Given the description of an element on the screen output the (x, y) to click on. 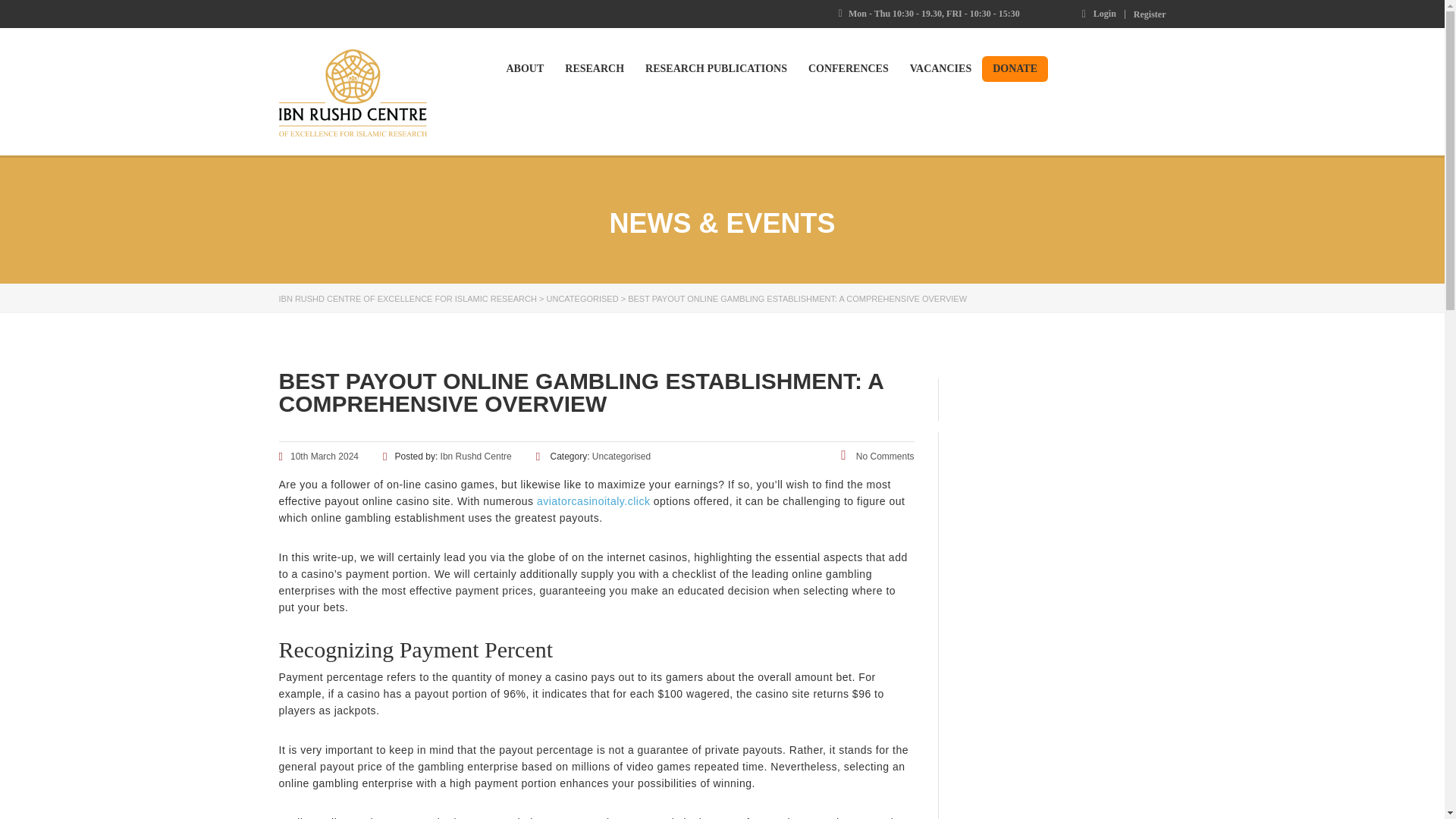
Go to the Uncategorised Category archives. (581, 298)
Go to Ibn Rushd Centre of Excellence for Islamic Research. (408, 298)
Login (1098, 13)
Register (1150, 13)
